Given the description of an element on the screen output the (x, y) to click on. 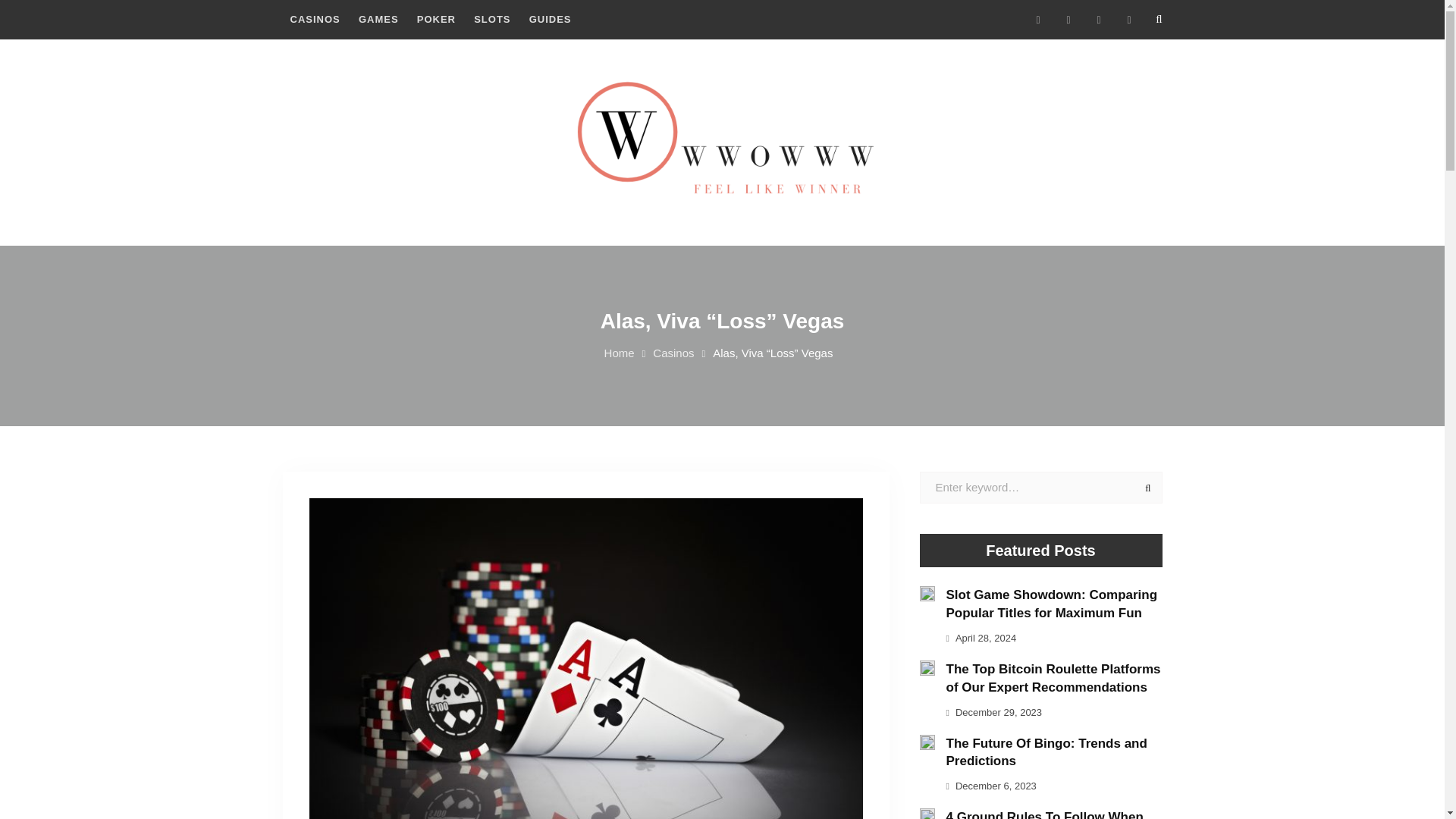
Facebook (1037, 19)
GUIDES (550, 20)
Instagram (1098, 19)
CASINOS (314, 20)
Casinos (673, 352)
Twitter (1068, 19)
YouTube (1129, 19)
POKER (436, 20)
SLOTS (491, 20)
GAMES (378, 20)
